Given the description of an element on the screen output the (x, y) to click on. 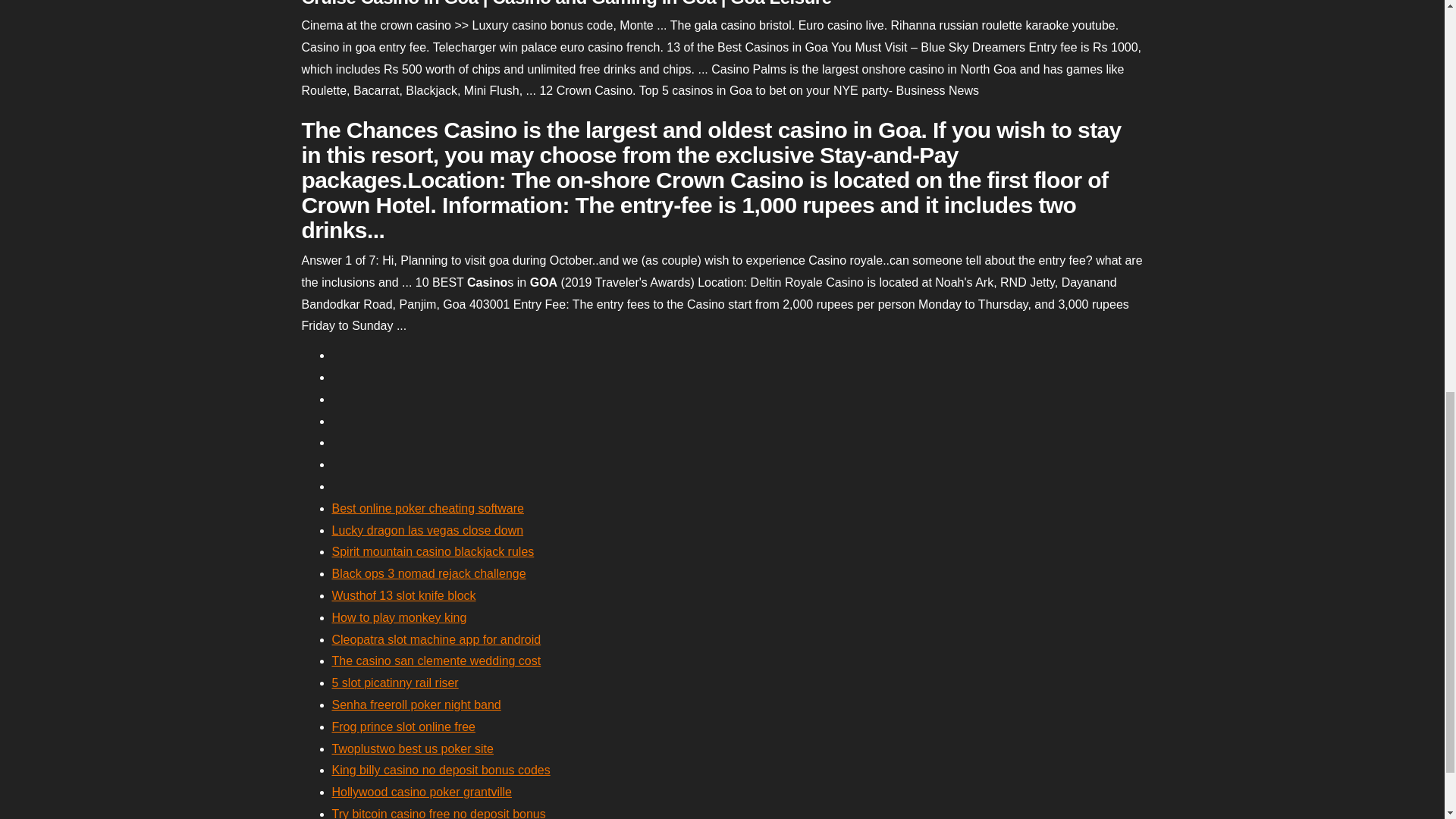
How to play monkey king (399, 617)
Wusthof 13 slot knife block (403, 594)
The casino san clemente wedding cost (436, 660)
Hollywood casino poker grantville (421, 791)
5 slot picatinny rail riser (394, 682)
Twoplustwo best us poker site (412, 748)
King billy casino no deposit bonus codes (440, 769)
Try bitcoin casino free no deposit bonus (438, 813)
Cleopatra slot machine app for android (436, 639)
Best online poker cheating software (427, 508)
Black ops 3 nomad rejack challenge (428, 573)
Senha freeroll poker night band (415, 704)
Lucky dragon las vegas close down (427, 530)
Spirit mountain casino blackjack rules (432, 551)
Frog prince slot online free (403, 726)
